Given the description of an element on the screen output the (x, y) to click on. 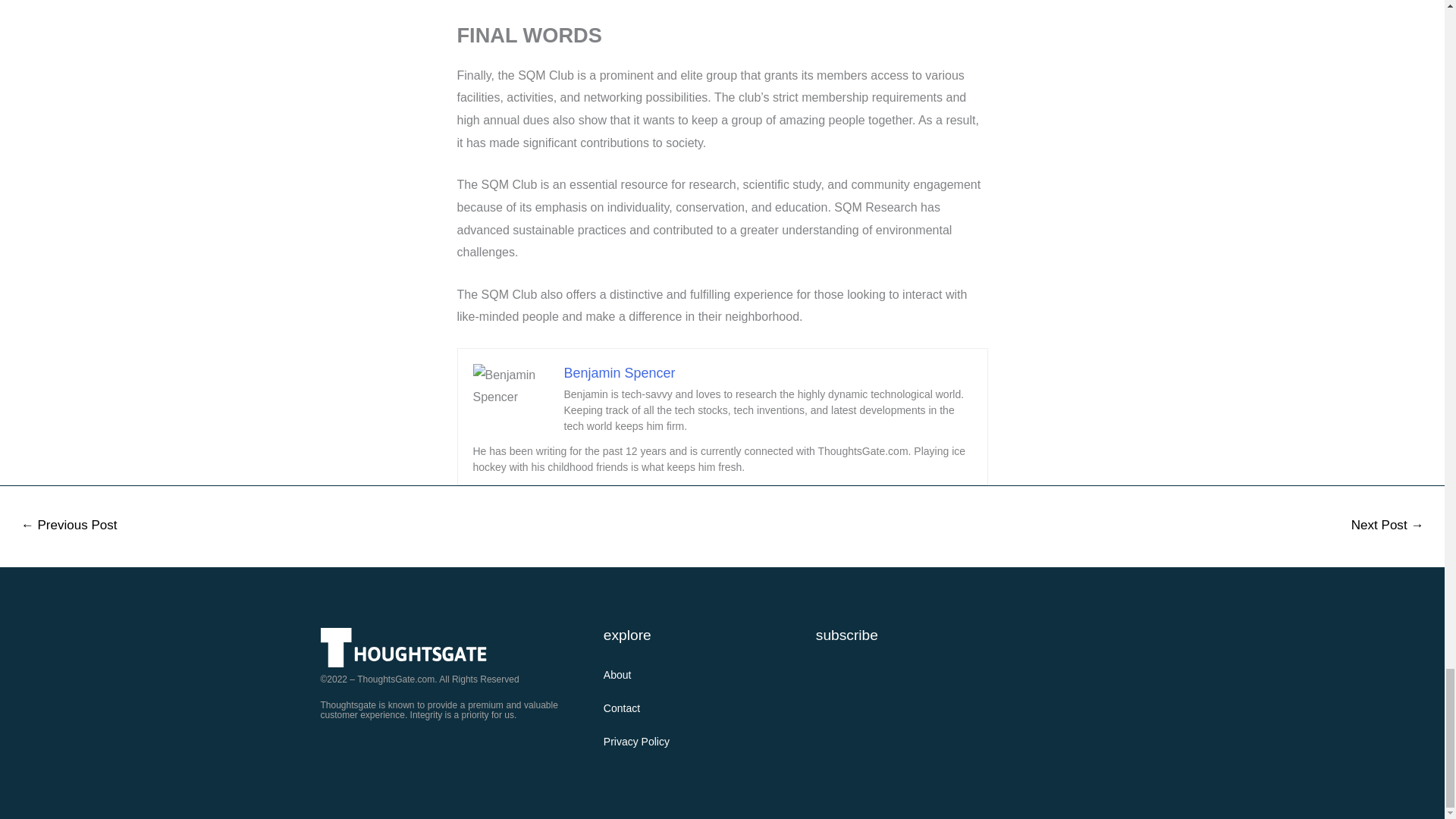
Contact (687, 707)
About (687, 674)
Benjamin Spencer (619, 372)
Privacy Policy (687, 741)
